Given the description of an element on the screen output the (x, y) to click on. 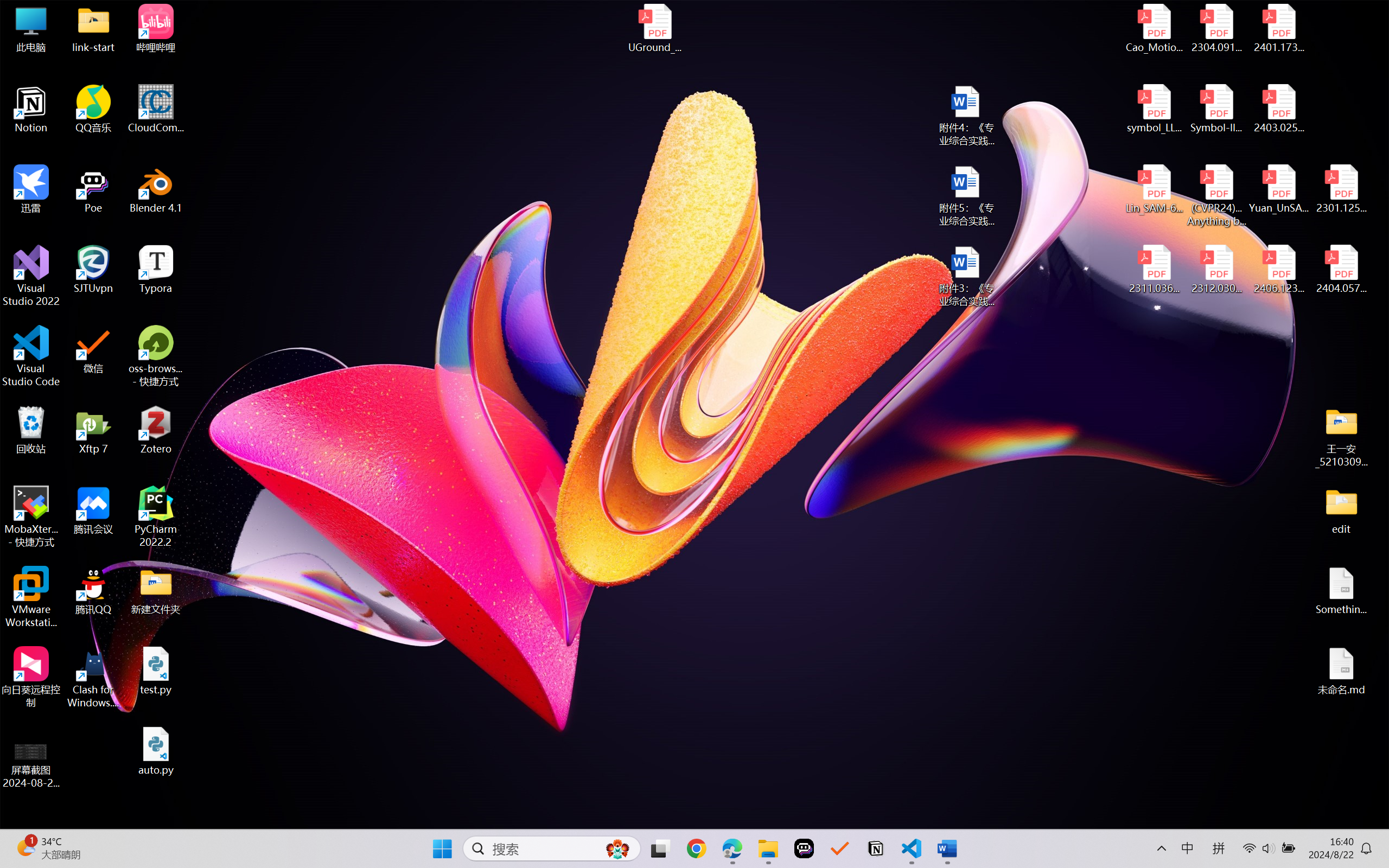
2311.03658v2.pdf (1154, 269)
Visual Studio 2022 (31, 276)
Notion (875, 848)
symbol_LLM.pdf (1154, 109)
Poe (93, 189)
auto.py (156, 751)
edit (1340, 510)
2312.03032v2.pdf (1216, 269)
